Given the description of an element on the screen output the (x, y) to click on. 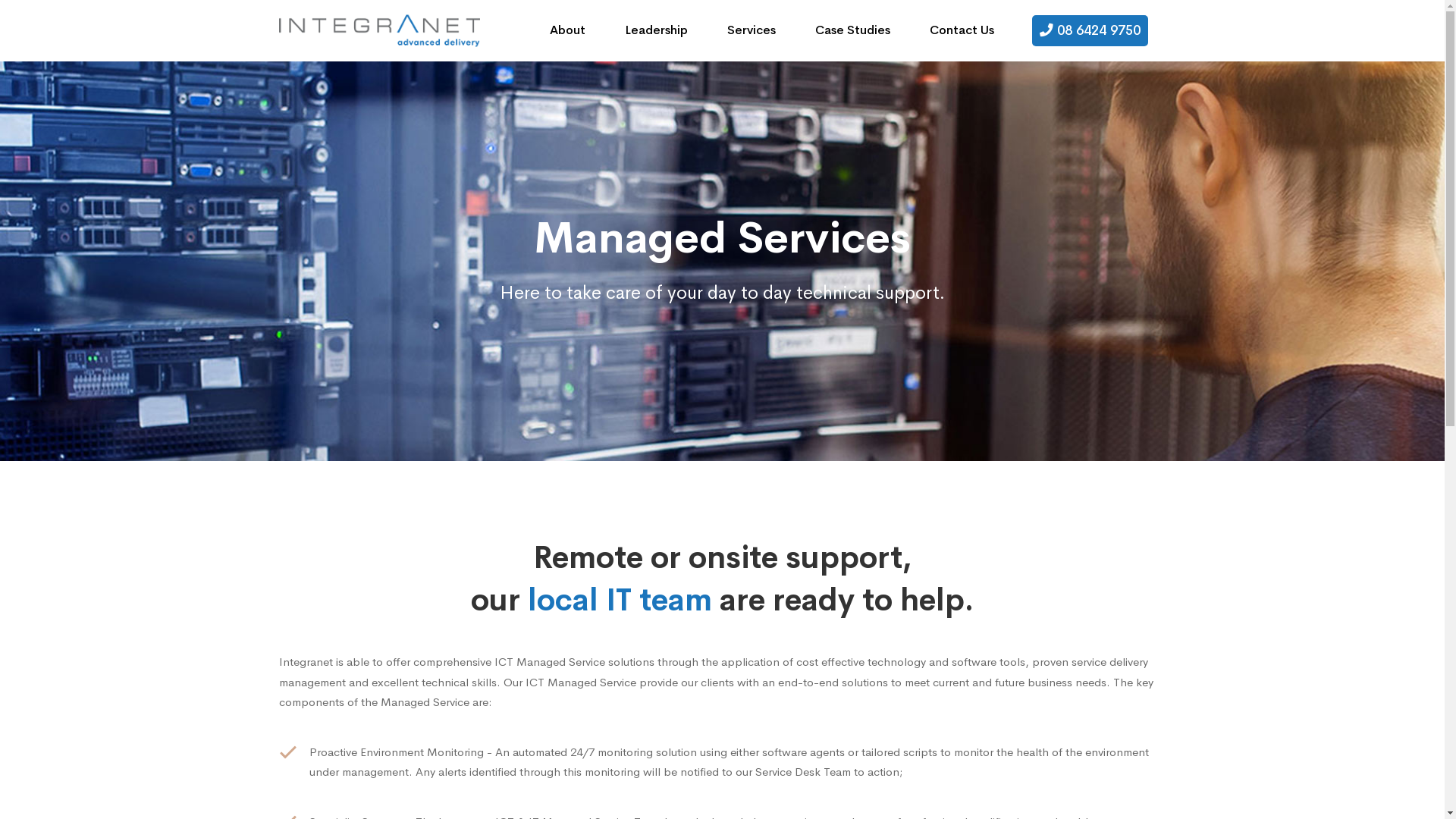
Case Studies Element type: text (851, 30)
Contact Us Element type: text (961, 30)
08 6424 9750 Element type: text (1089, 30)
Leadership Element type: text (656, 30)
Services Element type: text (750, 30)
About Element type: text (566, 30)
